Given the description of an element on the screen output the (x, y) to click on. 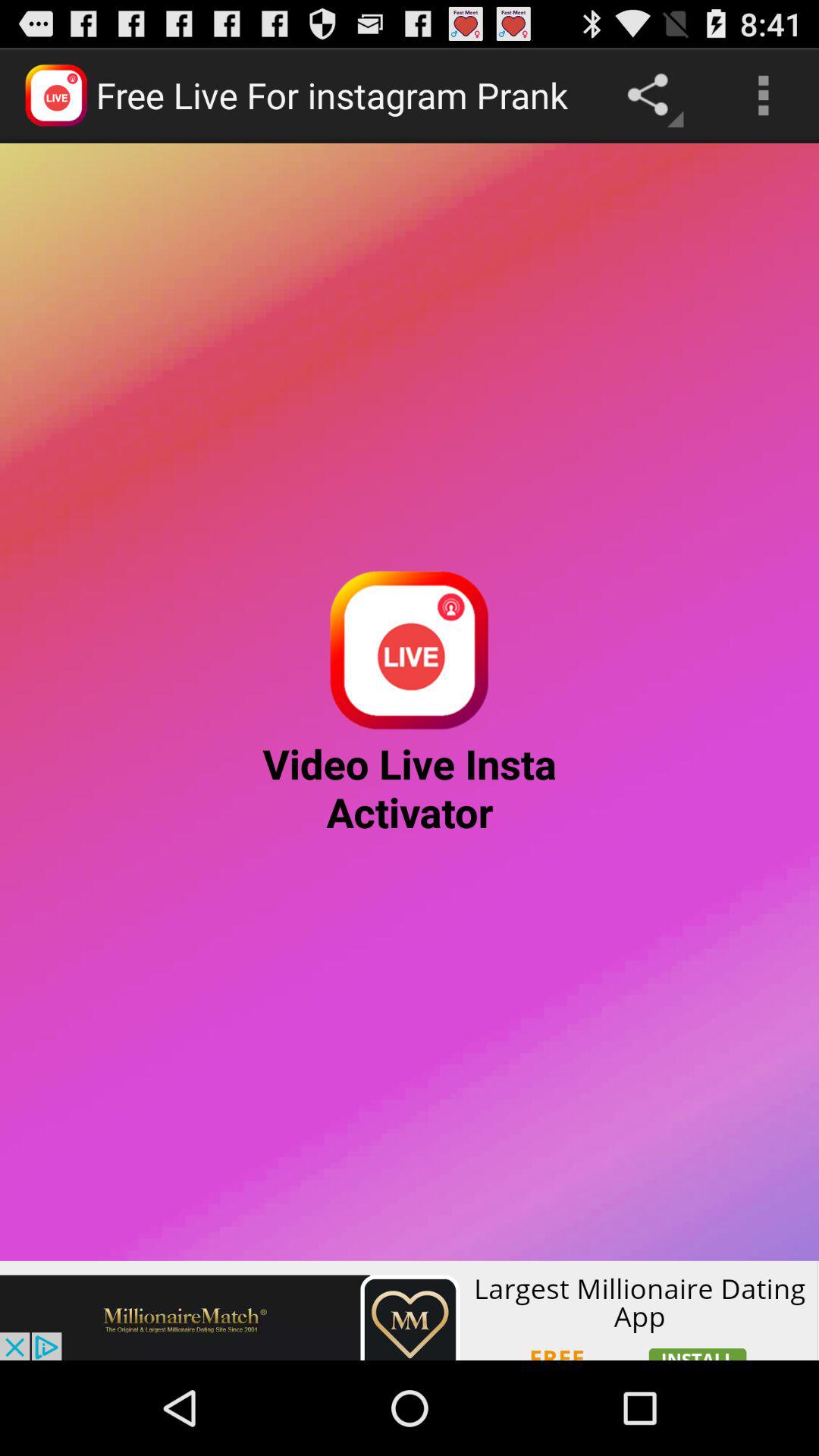
go to advertisement (409, 1310)
